Given the description of an element on the screen output the (x, y) to click on. 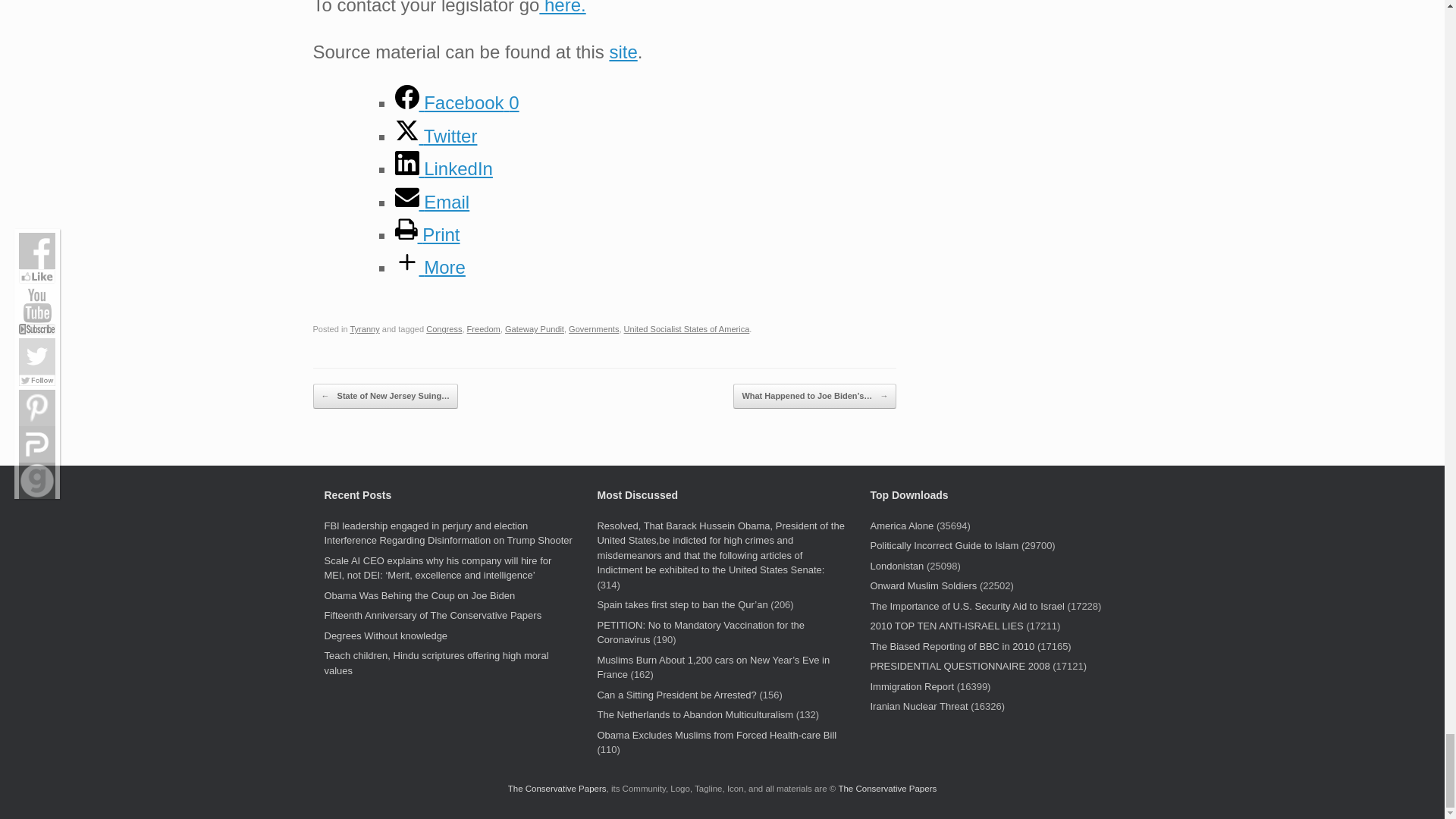
Facebook 0 (456, 102)
site (622, 51)
here. (561, 7)
Twitter (435, 136)
Email (431, 201)
LinkedIn (443, 168)
